Given the description of an element on the screen output the (x, y) to click on. 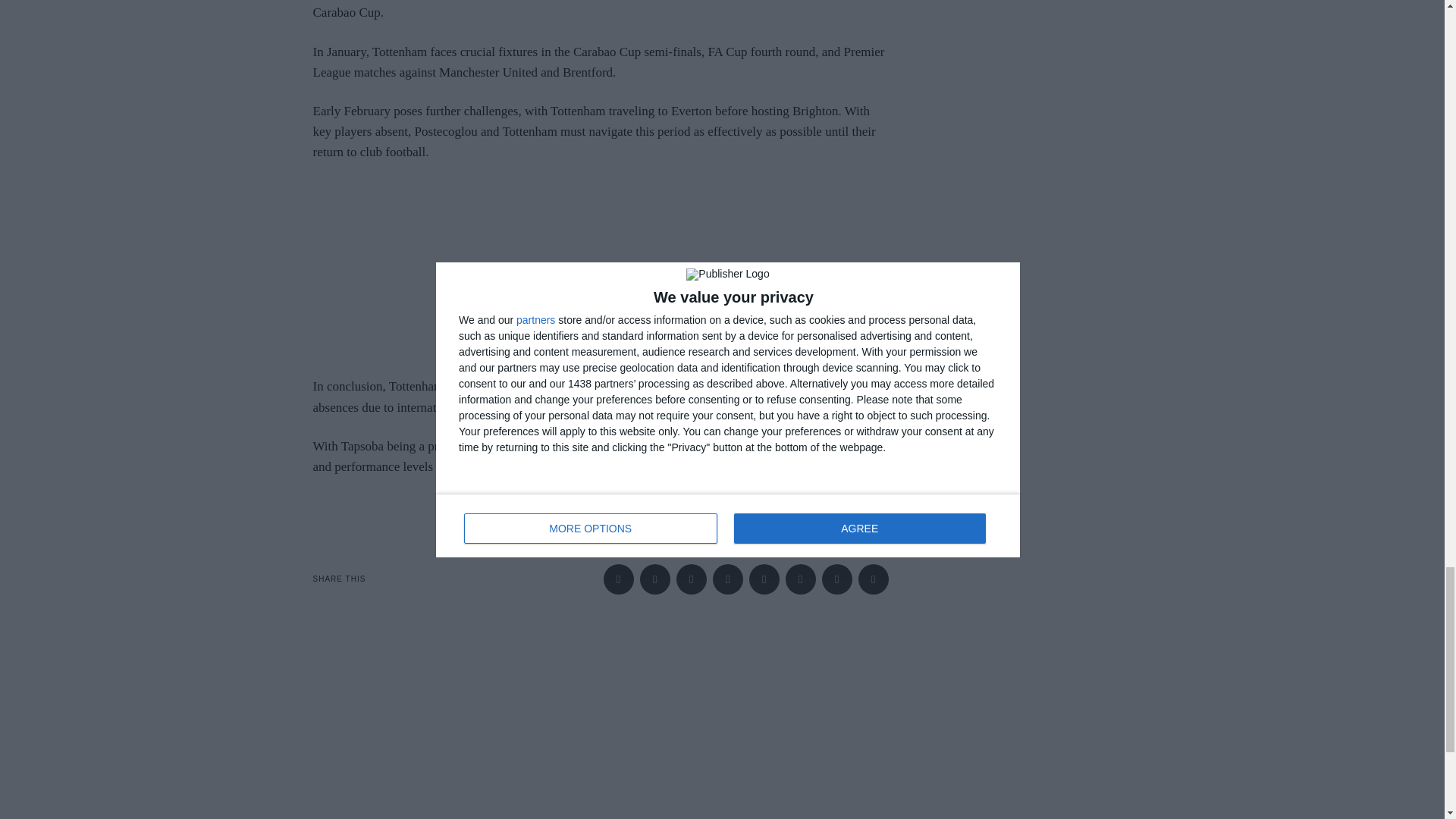
Whatsapp (800, 579)
Follow London Insider on Google News (600, 504)
Twitter (691, 579)
Linkedin (763, 579)
Messenger (654, 579)
Pinterest (727, 579)
Facebook (618, 579)
